Given the description of an element on the screen output the (x, y) to click on. 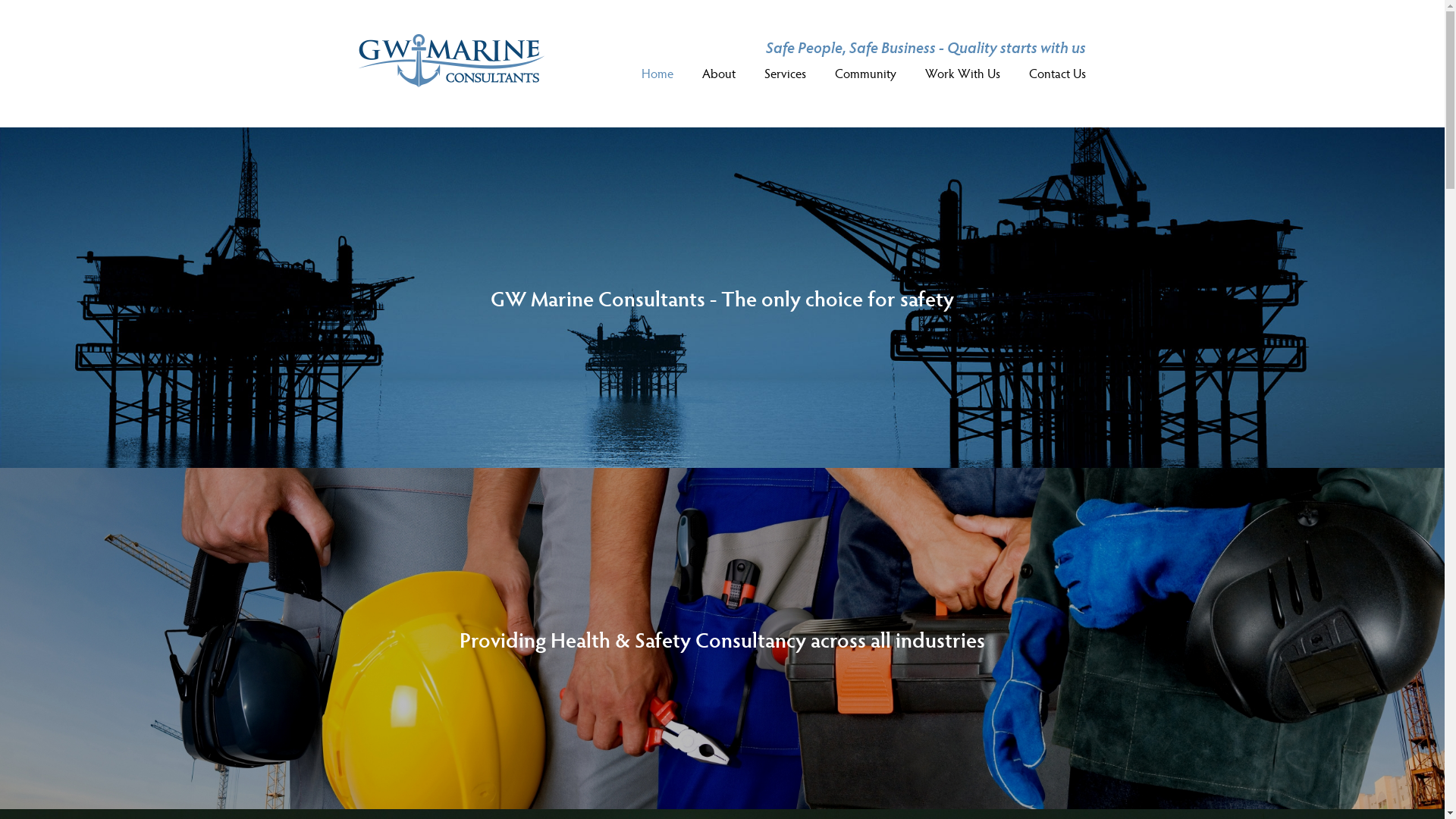
Work With Us Element type: text (963, 72)
Services Element type: text (785, 72)
About Element type: text (719, 72)
GW Marine Element type: text (451, 82)
Contact Us Element type: text (1054, 72)
Community Element type: text (865, 72)
Home Element type: text (660, 72)
